Given the description of an element on the screen output the (x, y) to click on. 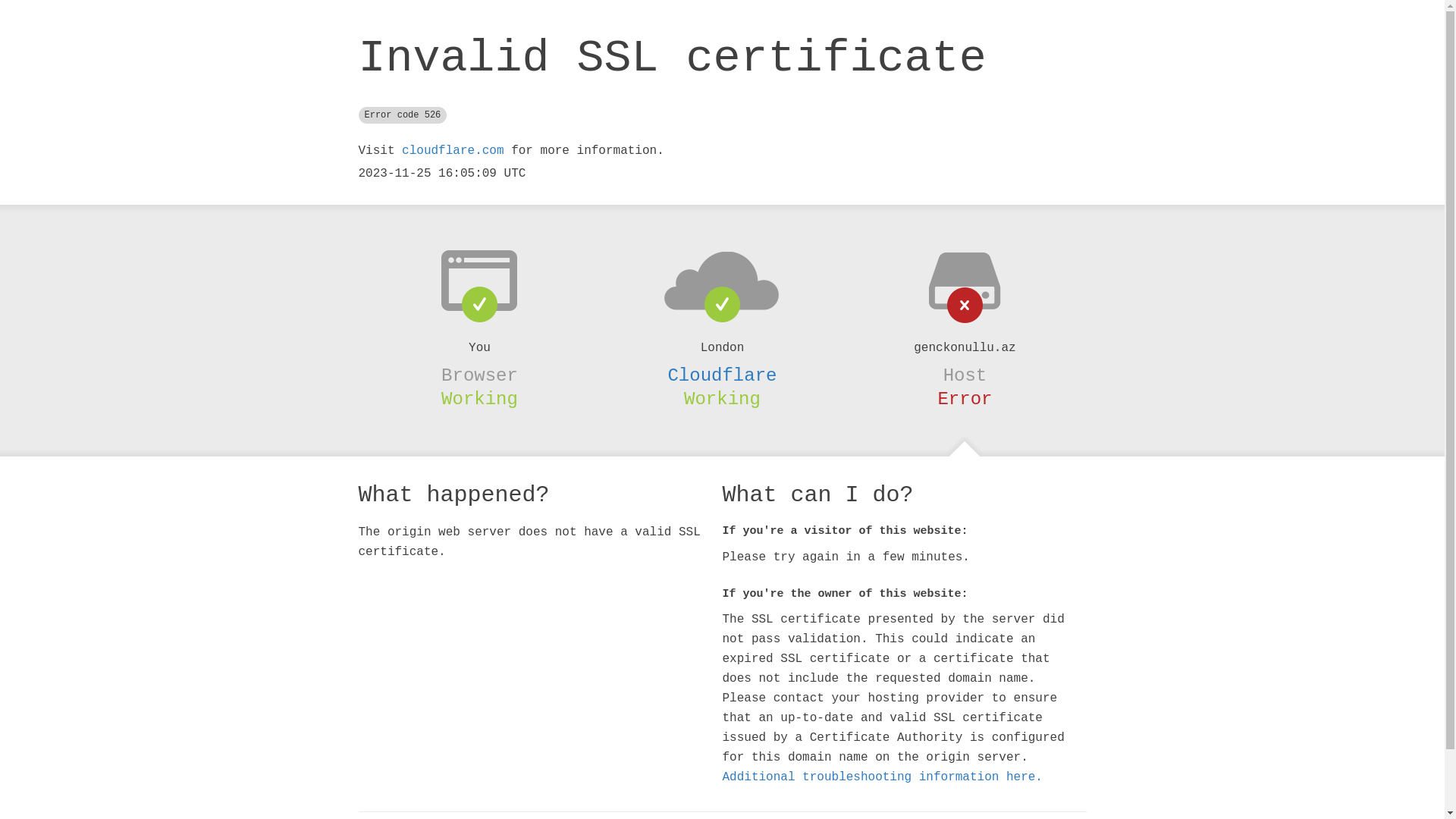
Additional troubleshooting information here. Element type: text (881, 777)
cloudflare.com Element type: text (452, 150)
Cloudflare Element type: text (721, 375)
